Given the description of an element on the screen output the (x, y) to click on. 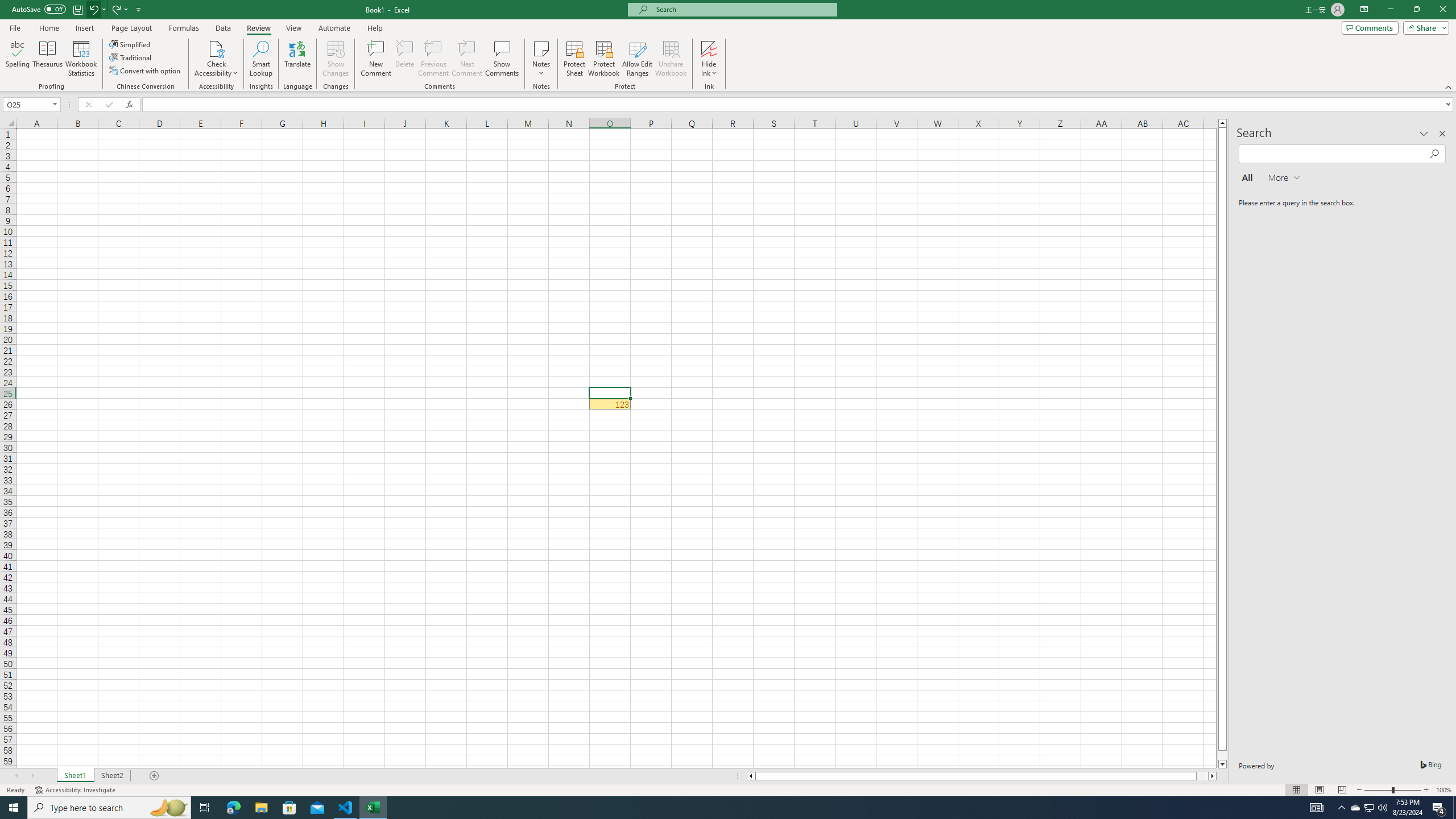
Delete (404, 58)
